Given the description of an element on the screen output the (x, y) to click on. 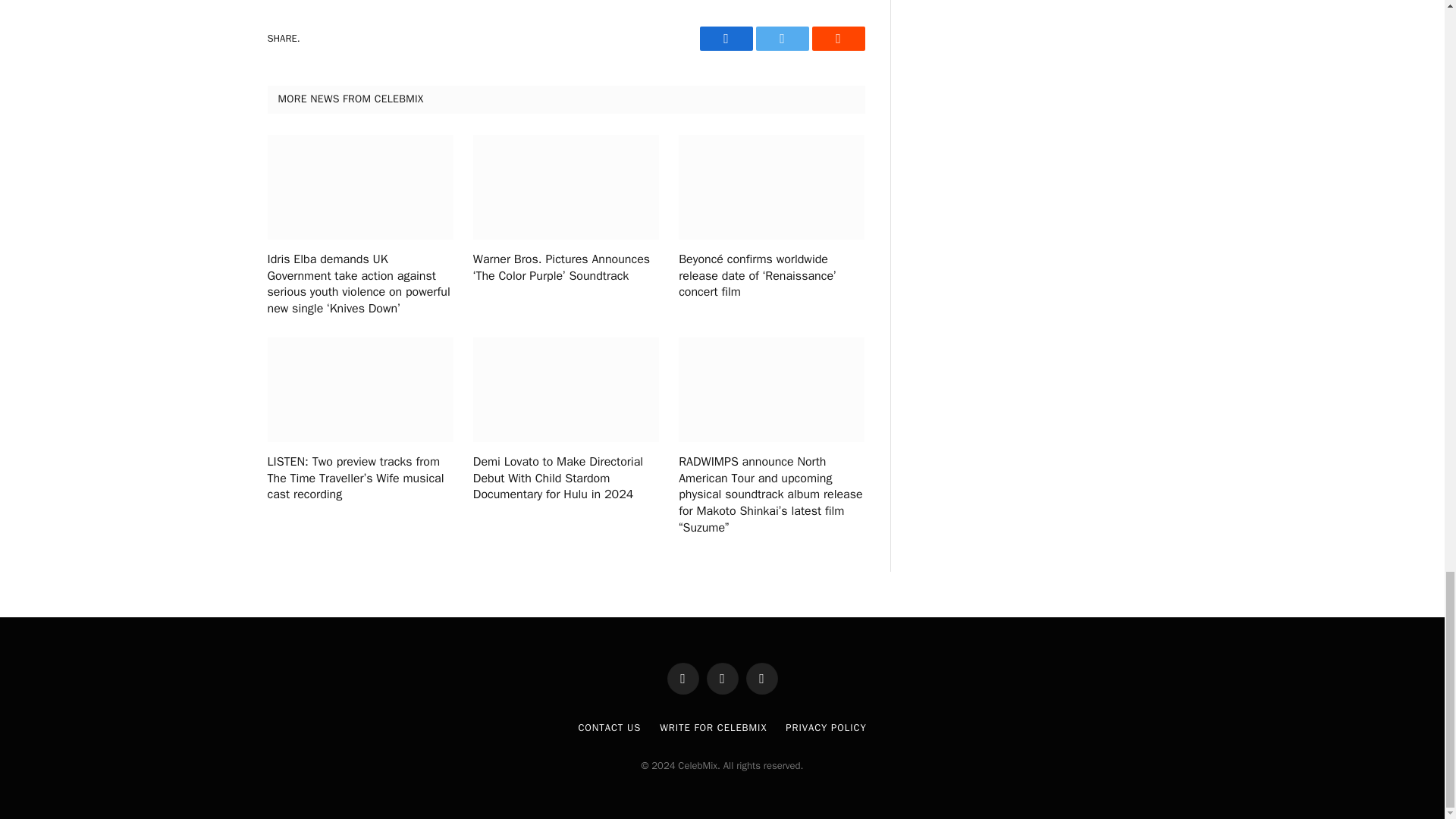
Facebook (725, 38)
Twitter (781, 38)
Reddit (837, 38)
Share on Facebook (725, 38)
